Given the description of an element on the screen output the (x, y) to click on. 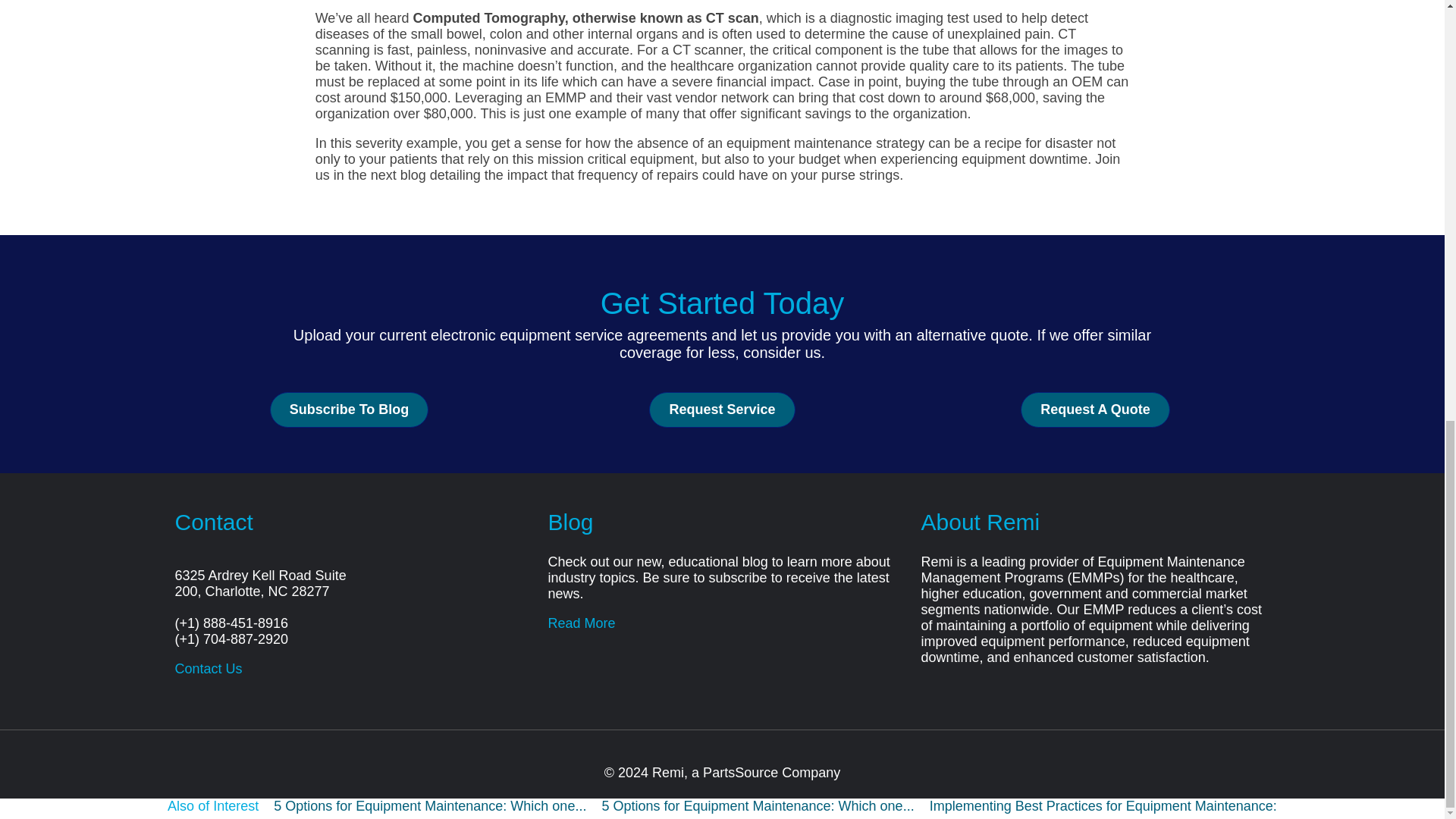
5 Options for Equipment Maintenance: Which one... (757, 806)
Contact Us (207, 667)
Read More (580, 622)
Subscribe To Blog (349, 409)
5 Options for Equipment Maintenance: Which one... (429, 806)
Access our Blog (580, 622)
Implementing Best Practices for Equipment Maintenance: (1103, 806)
Request A Quote (1095, 409)
Request Service (721, 409)
